Given the description of an element on the screen output the (x, y) to click on. 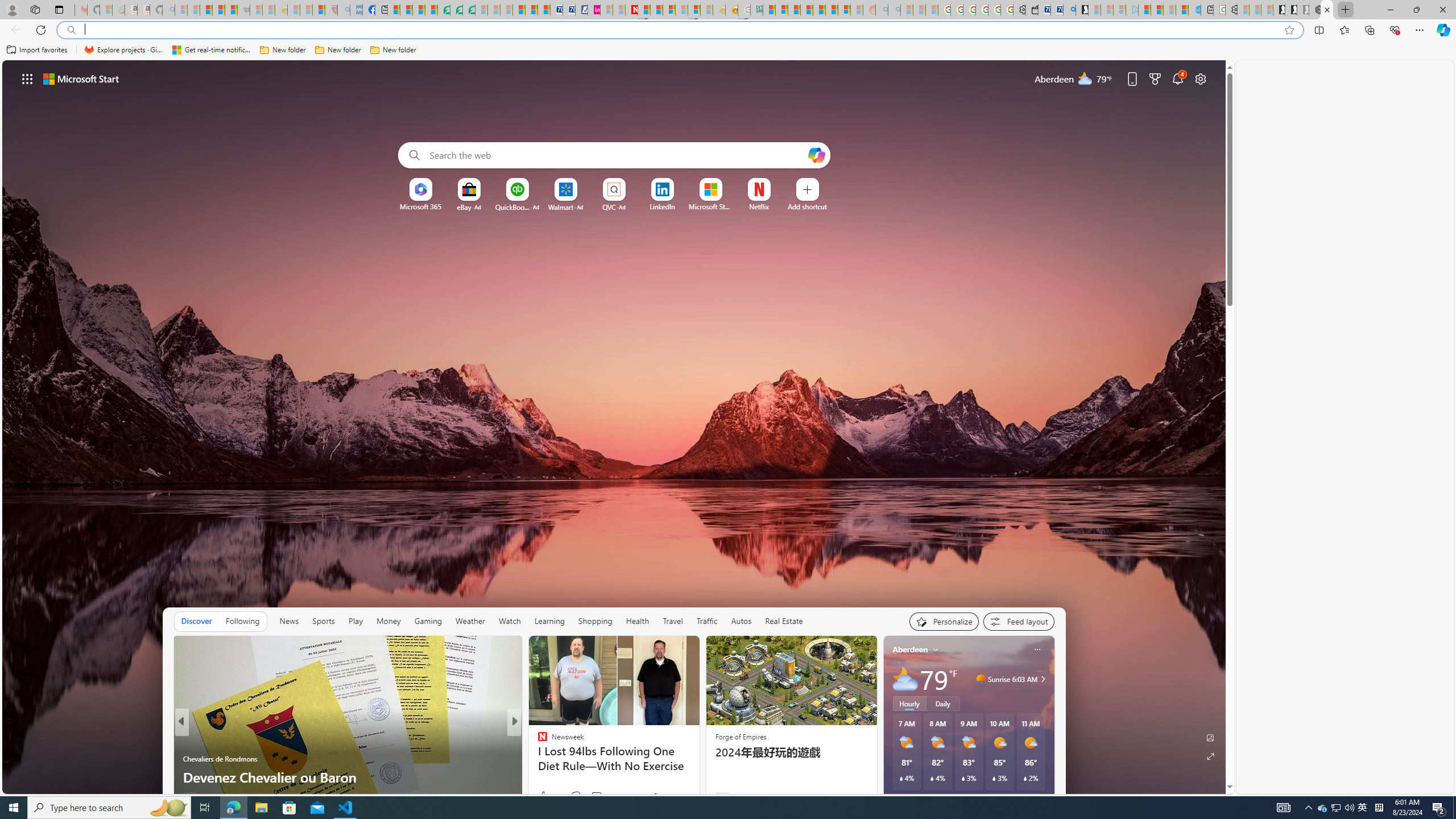
Money (387, 621)
DITOGAMES AG Imprint (756, 9)
list of asthma inhalers uk - Search - Sleeping (344, 9)
The Weather Channel - MSN (205, 9)
Daily (942, 703)
Devenez Chevalier ou Baron (347, 777)
50 Hygiene Tips We Assumed Everyone Did, But We Were Wrong (697, 767)
Traffic (706, 621)
Edit Background (1210, 737)
